Given the description of an element on the screen output the (x, y) to click on. 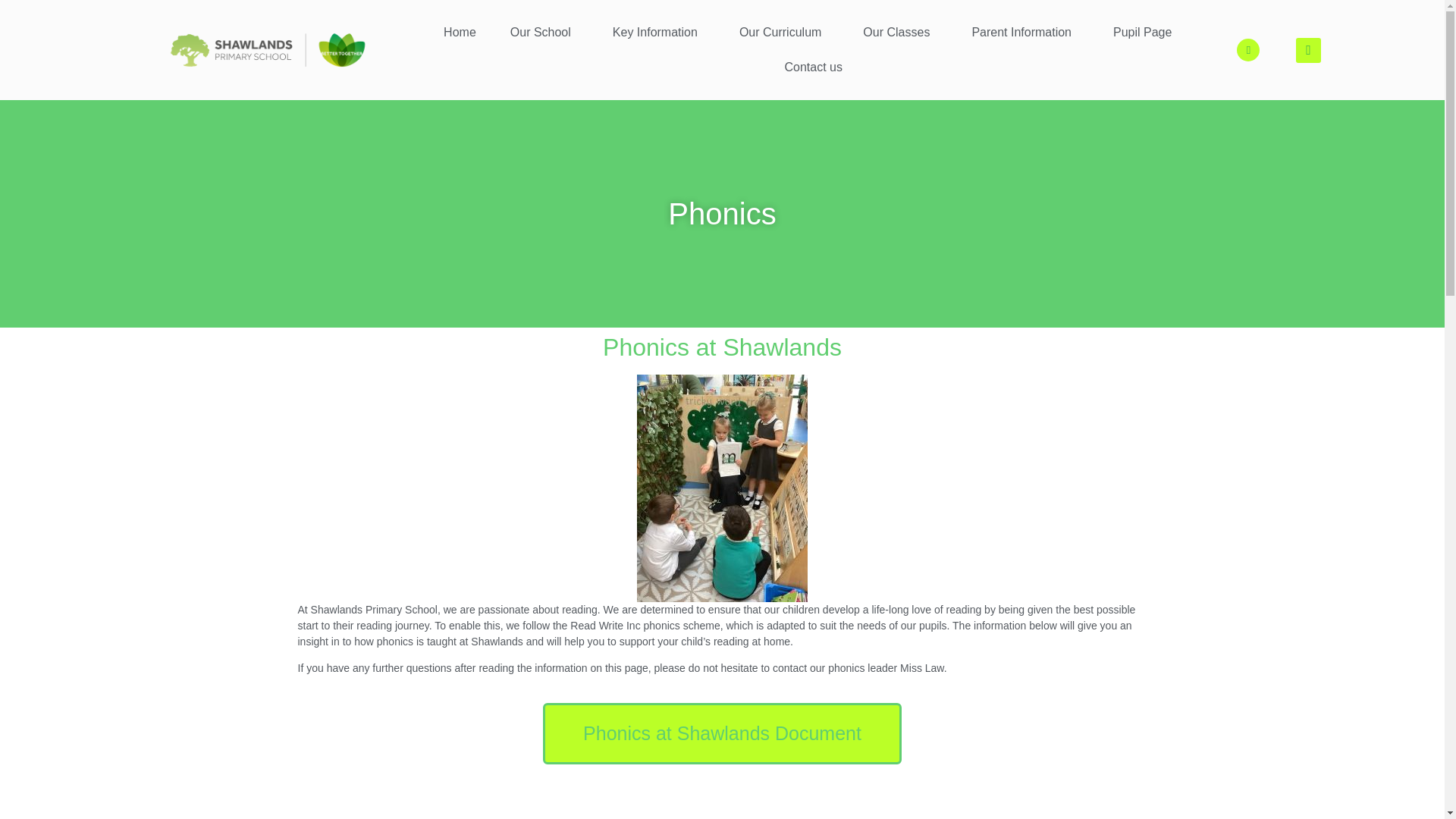
Home (460, 32)
Key Information (658, 32)
Our Classes (899, 32)
Our School (544, 32)
Shawlands-Brand-logo-joined (267, 50)
Our Curriculum (783, 32)
